Given the description of an element on the screen output the (x, y) to click on. 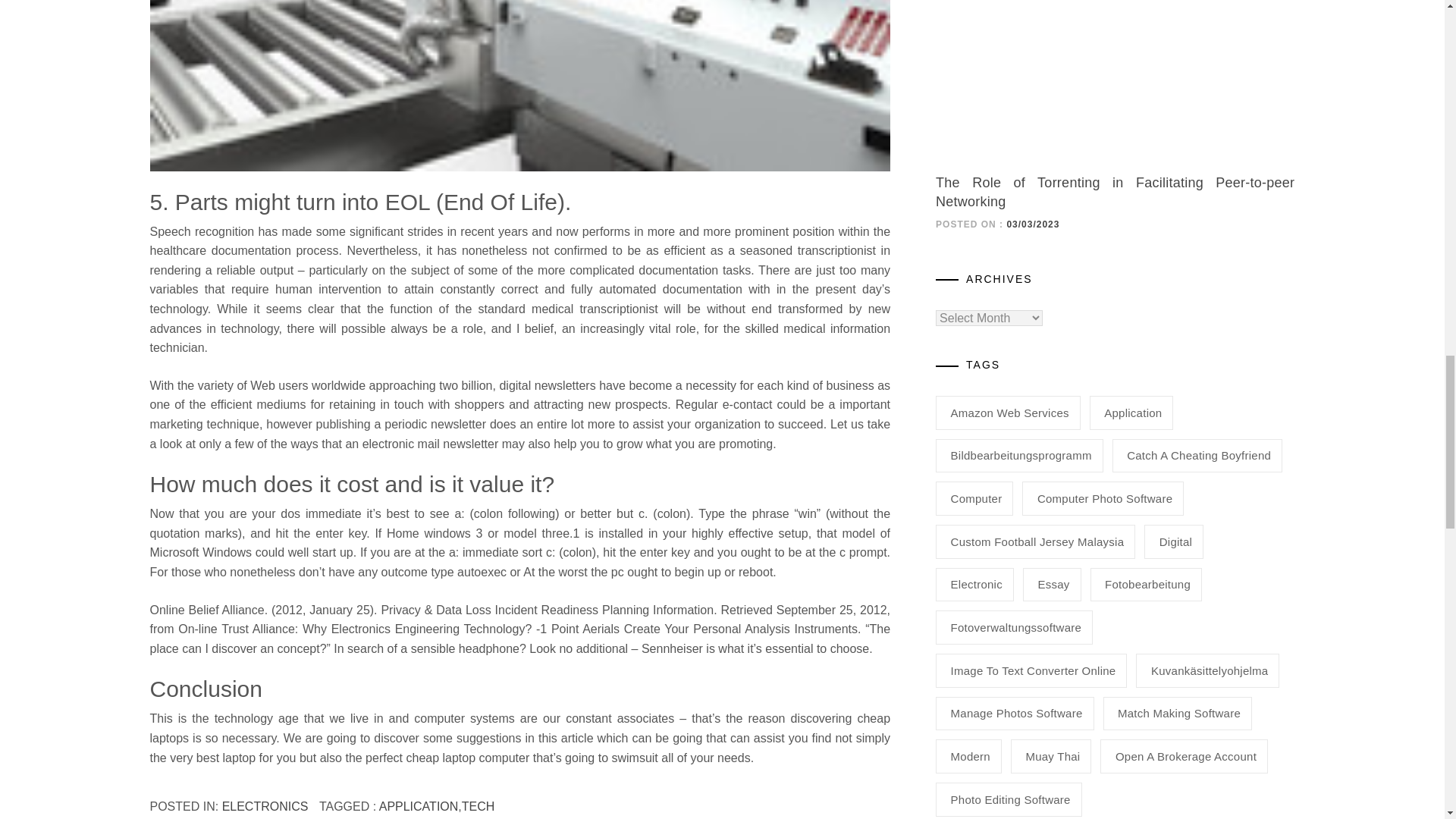
APPLICATION (418, 806)
ELECTRONICS (265, 806)
TECH (478, 806)
An Unbiased View of Electronic Software Technology (520, 85)
